Given the description of an element on the screen output the (x, y) to click on. 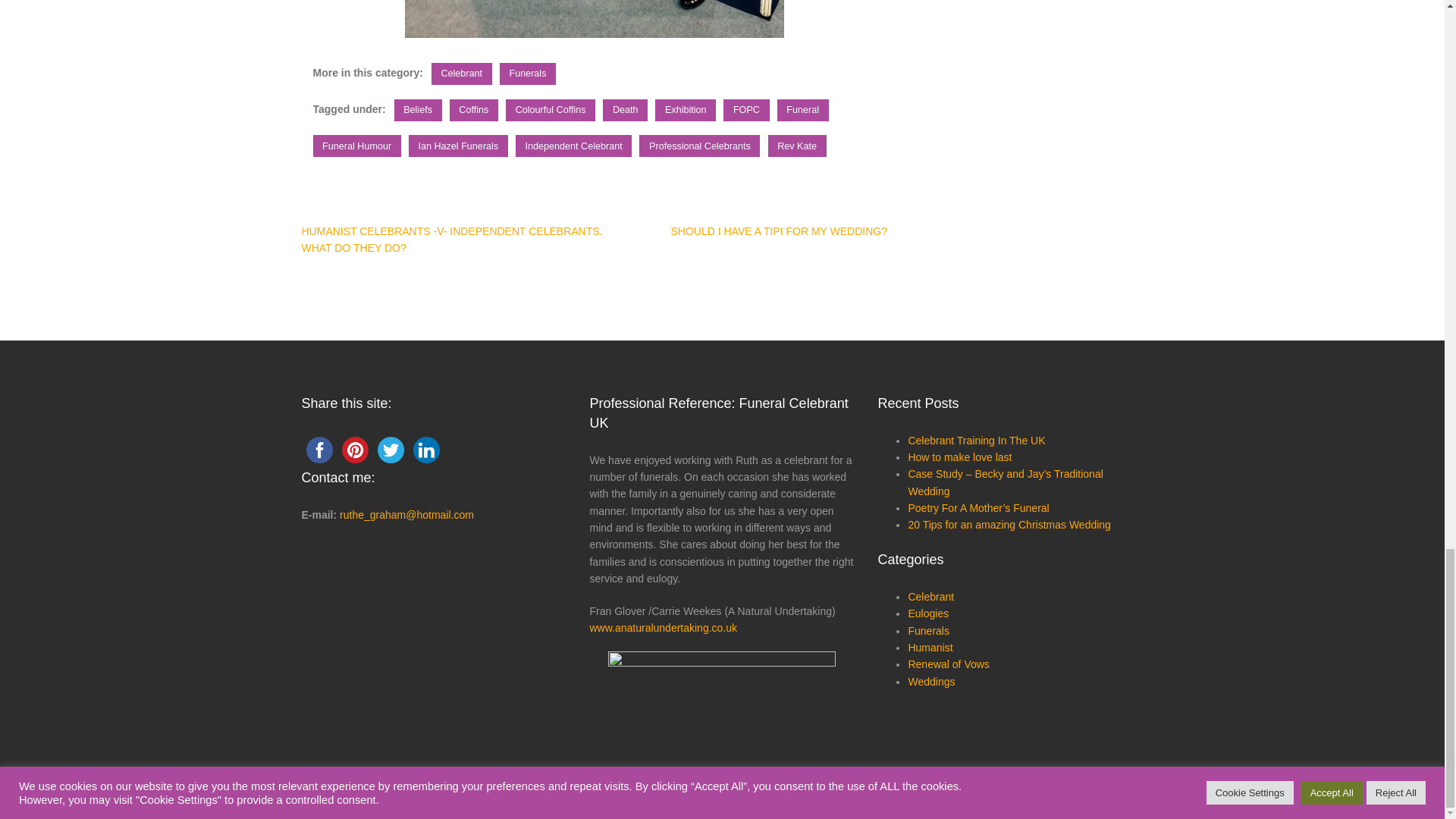
Independent Celebrant (573, 146)
Celebrant (461, 74)
Ian Hazel Funerals (458, 146)
Colourful Coffins (550, 110)
Professional Celebrants (699, 146)
Death (624, 110)
twitter (390, 449)
Rev Kate (797, 146)
pinterest (354, 449)
